Given the description of an element on the screen output the (x, y) to click on. 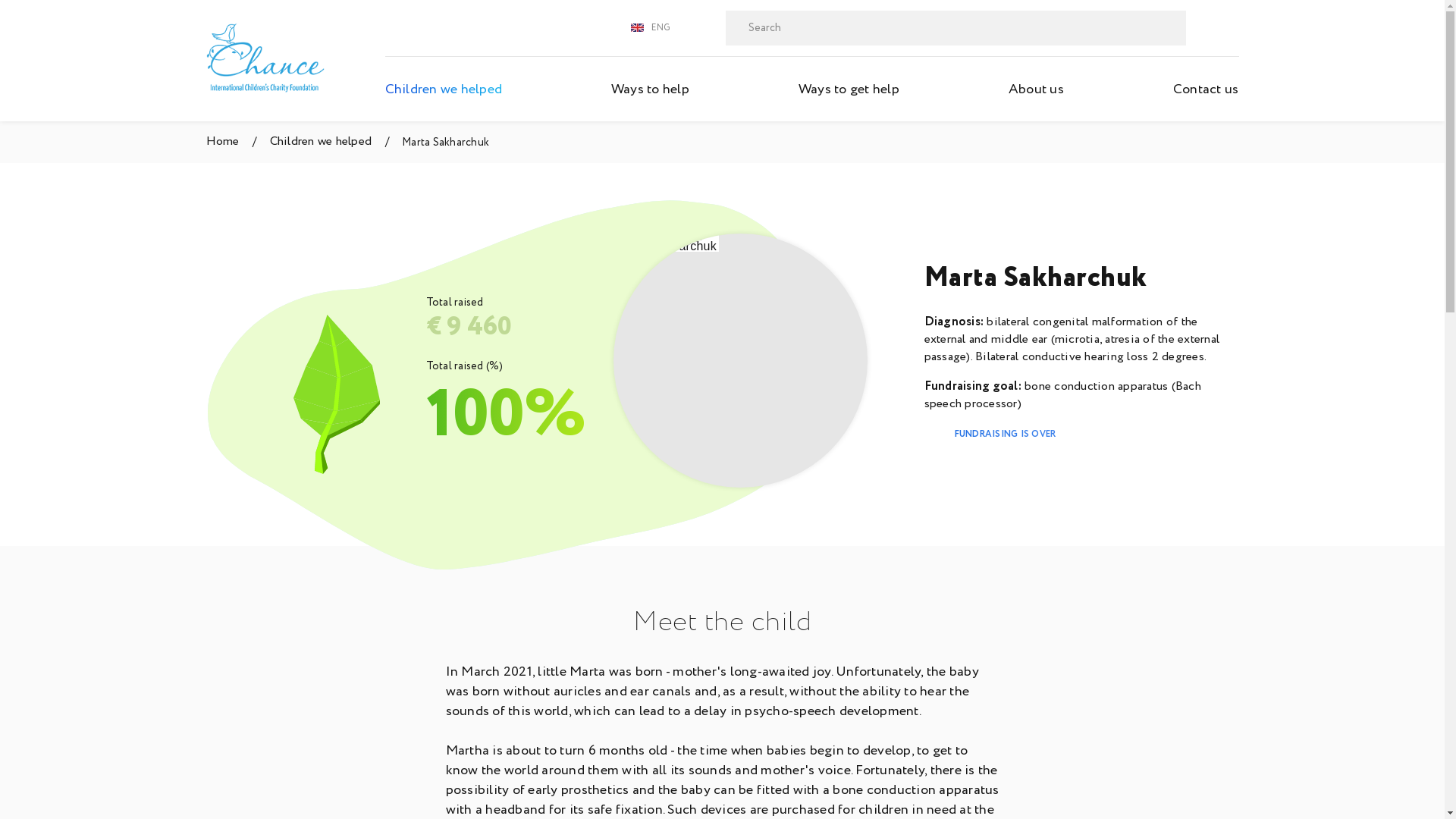
About us Element type: text (1035, 89)
Home Element type: text (232, 141)
Children we helped Element type: text (330, 141)
Contact us Element type: text (1206, 89)
Ways to help Element type: text (650, 89)
Children we helped Element type: text (443, 89)
Ways to get help Element type: text (848, 89)
